Given the description of an element on the screen output the (x, y) to click on. 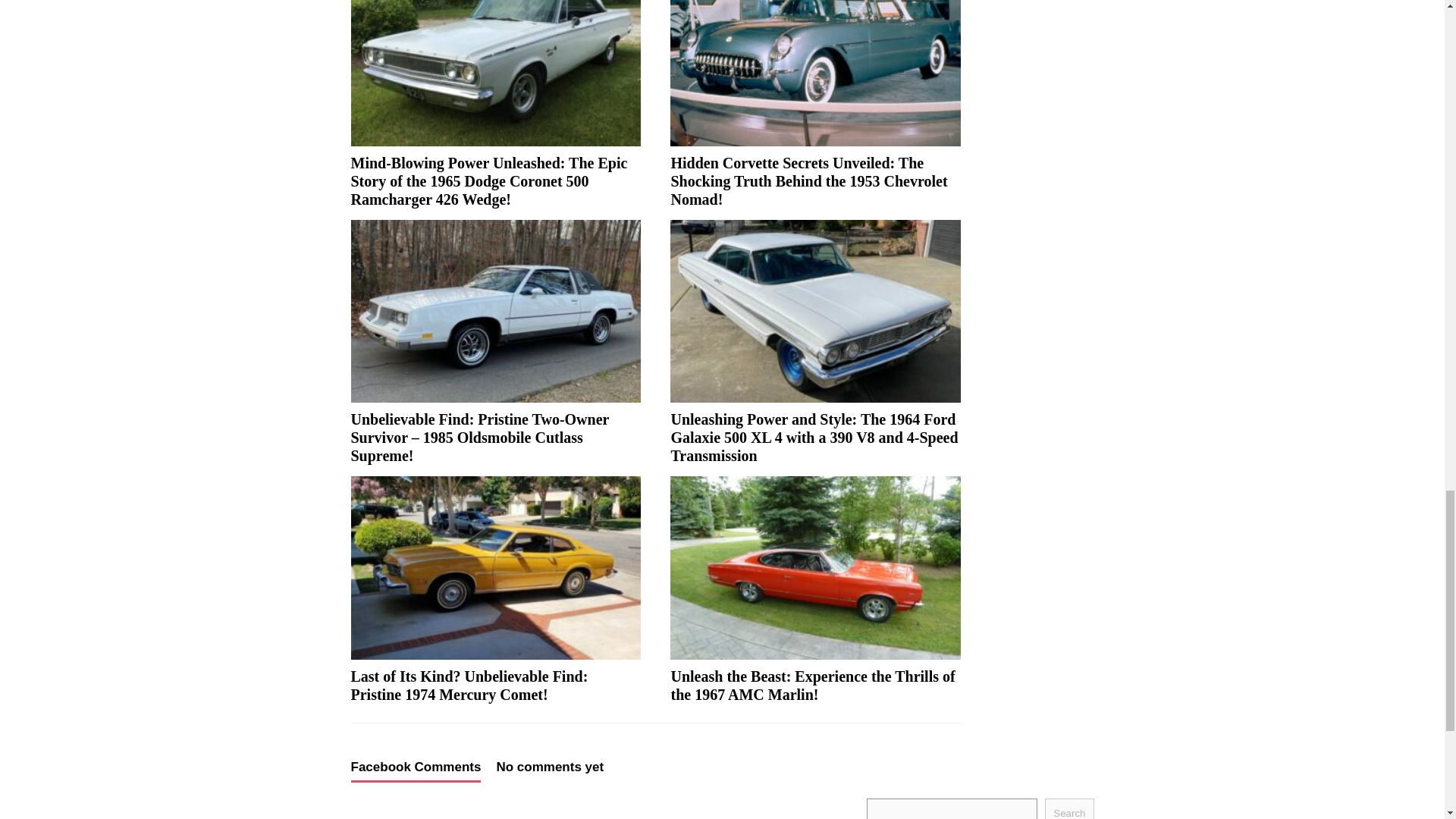
Facebook Comments (415, 771)
Search (1069, 808)
No comments yet (550, 770)
